Given the description of an element on the screen output the (x, y) to click on. 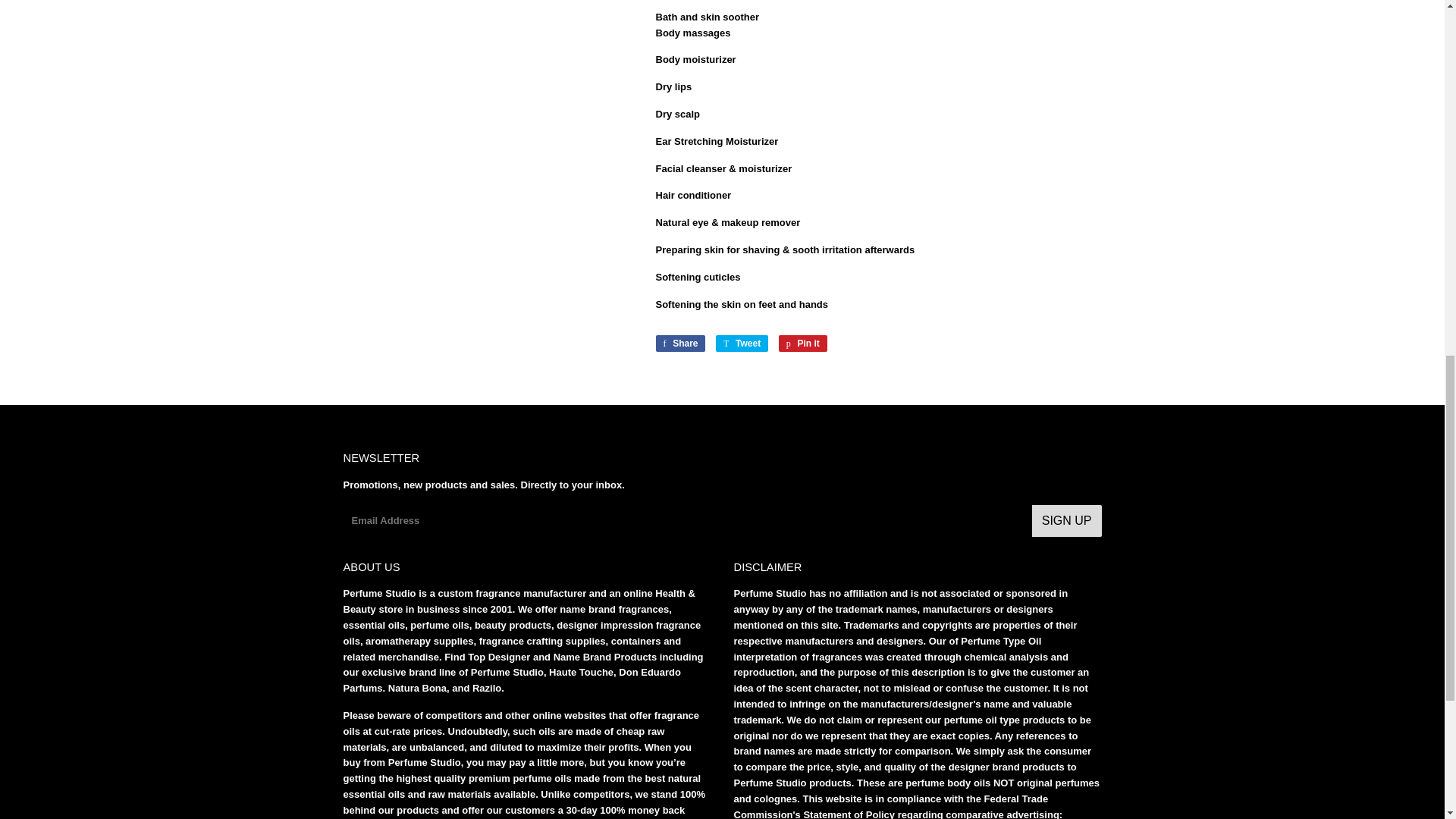
Pin on Pinterest (802, 343)
Share on Facebook (679, 343)
Tweet on Twitter (742, 343)
